Given the description of an element on the screen output the (x, y) to click on. 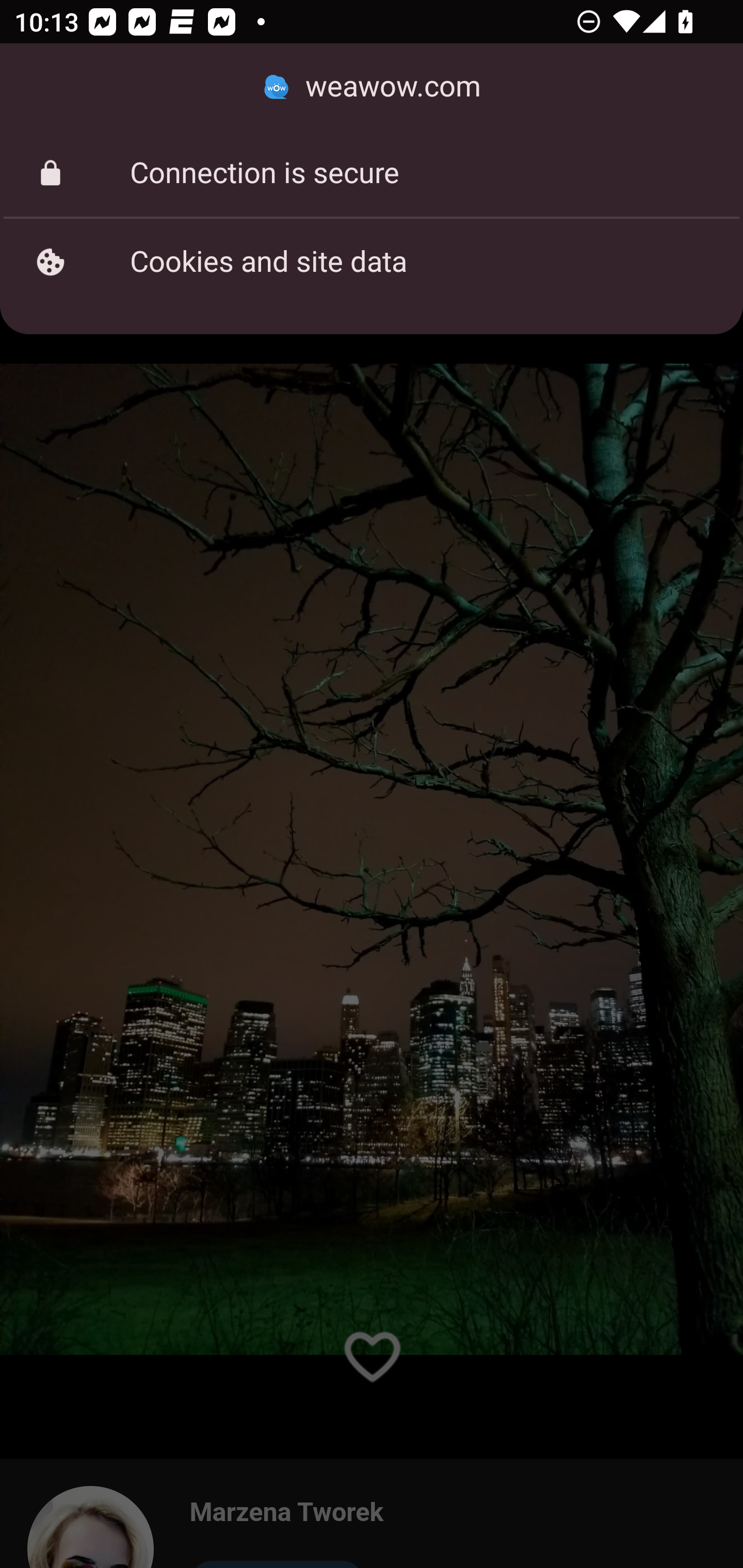
weawow.com (371, 86)
Connection is secure (371, 173)
Cookies and site data (371, 261)
